Given the description of an element on the screen output the (x, y) to click on. 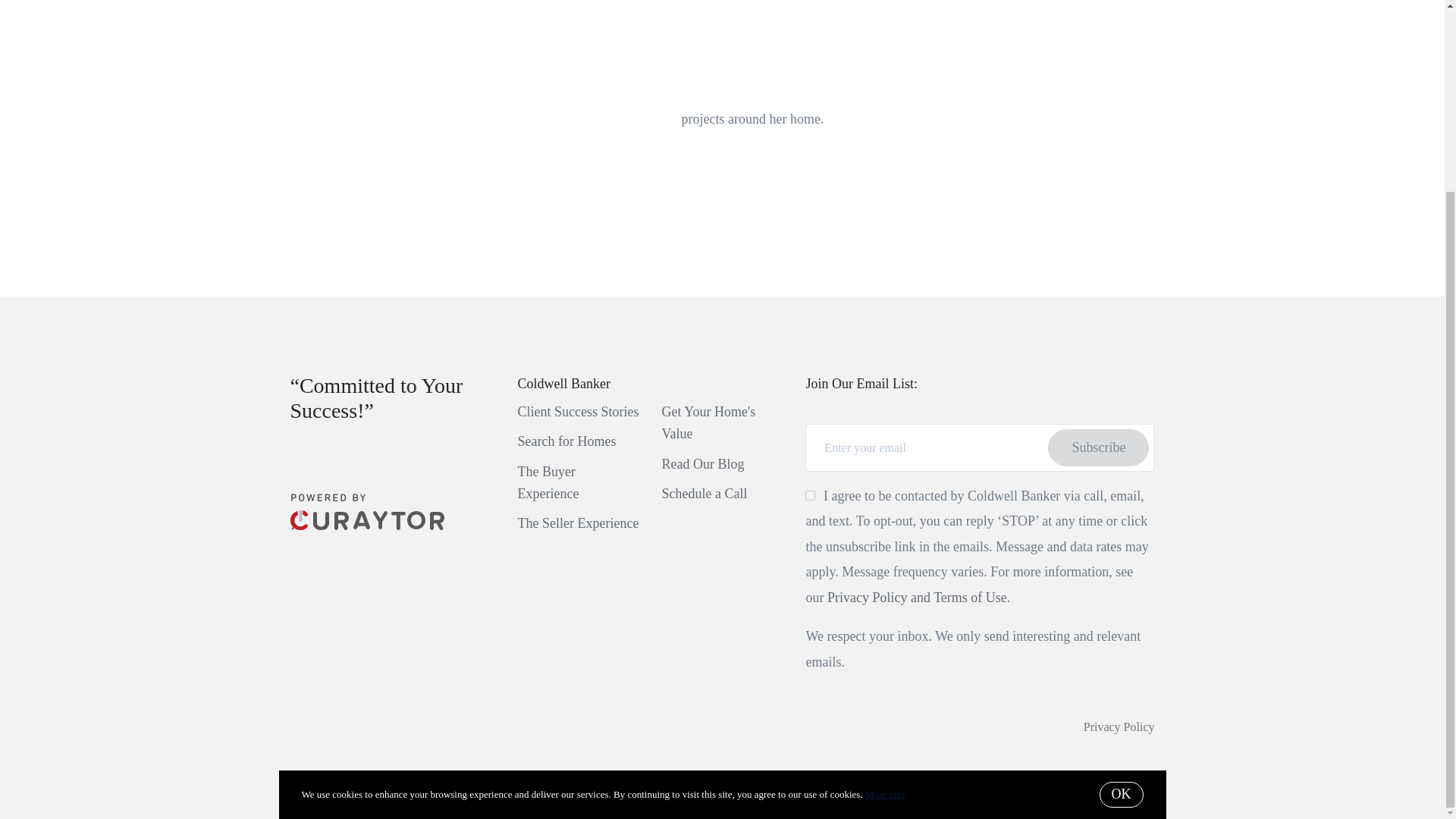
The Seller Experience (577, 522)
The Buyer Experience (547, 482)
Client Success Stories (577, 411)
Read Our Blog (702, 463)
curaytor-horizontal (366, 511)
curaytor-horizontal (366, 524)
on (810, 495)
More info (884, 554)
OK (1120, 555)
Get Your Home's Value (708, 422)
Search for Homes (565, 441)
